Given the description of an element on the screen output the (x, y) to click on. 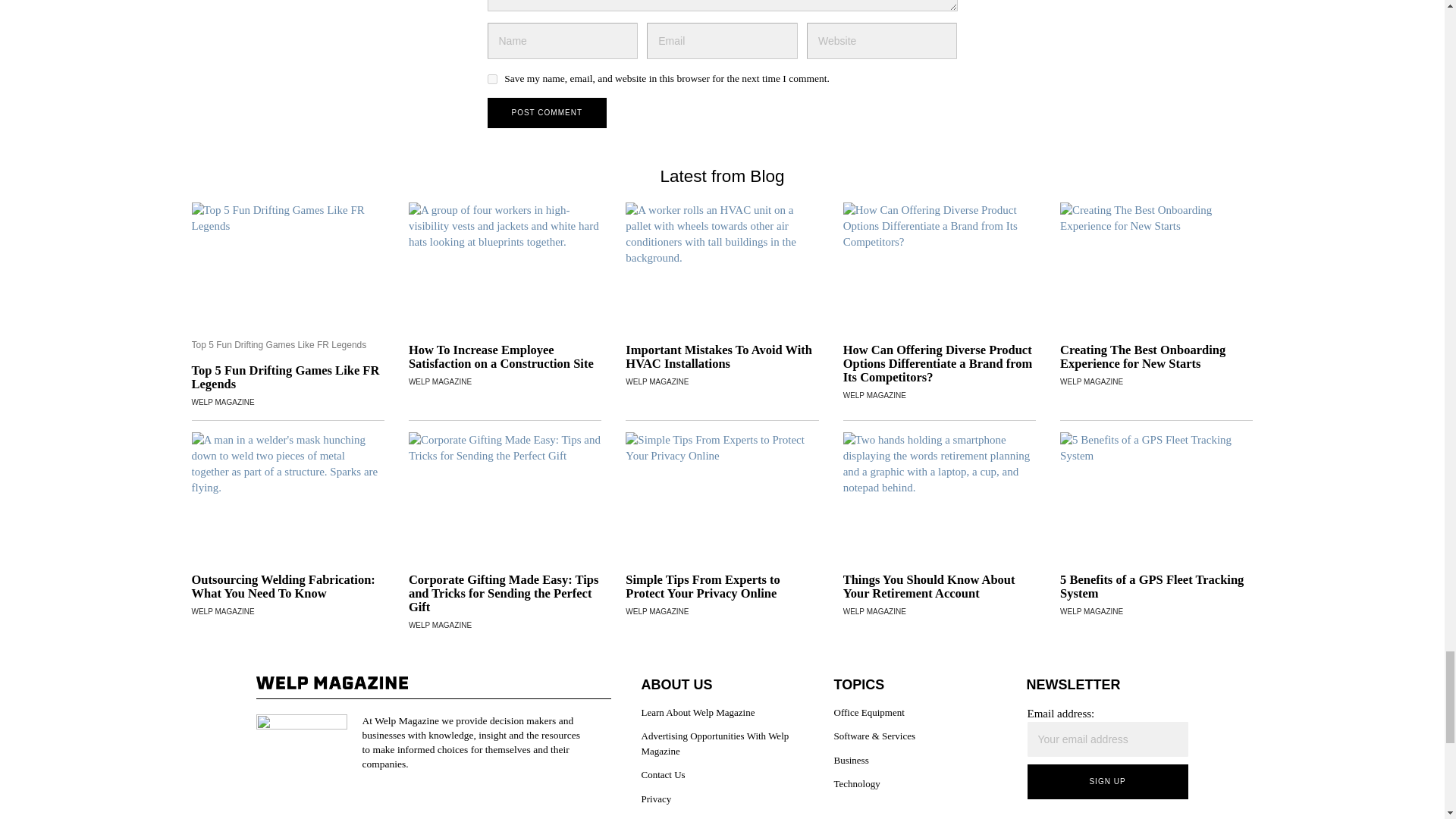
Sign up (1107, 781)
yes (491, 79)
Post Comment (545, 112)
